Given the description of an element on the screen output the (x, y) to click on. 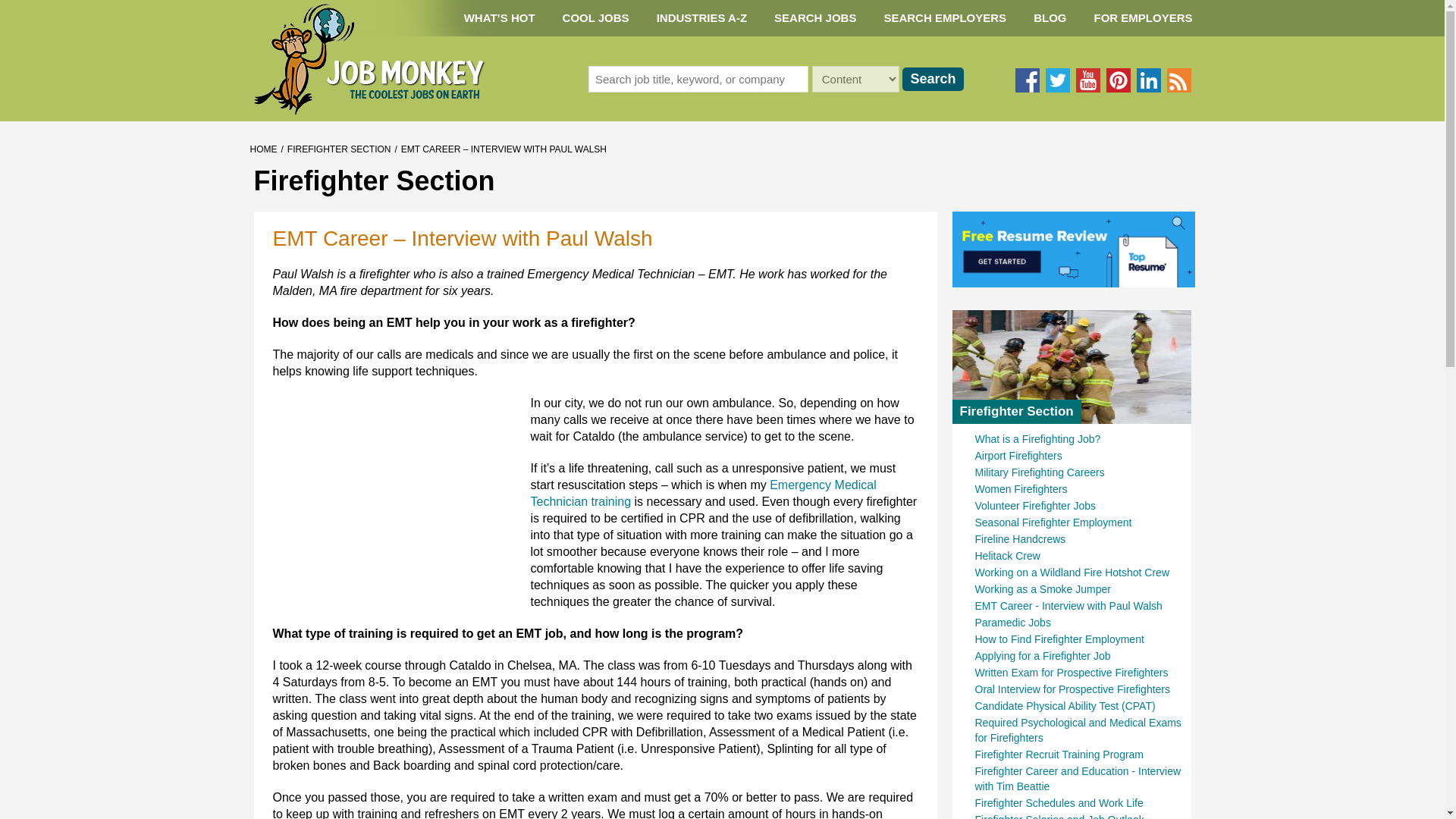
Connect with us on LinkedIn (1147, 79)
FOR EMPLOYERS (1142, 18)
Follow us on YouTube (1087, 79)
Follow us on Twitter (1056, 79)
Go to Firefighter Section. (338, 149)
Follow us on Facebook (1026, 79)
Follow us on Pinterest (1117, 79)
BLOG (1050, 18)
COOL JOBS (595, 18)
INDUSTRIES A-Z (701, 18)
